Given the description of an element on the screen output the (x, y) to click on. 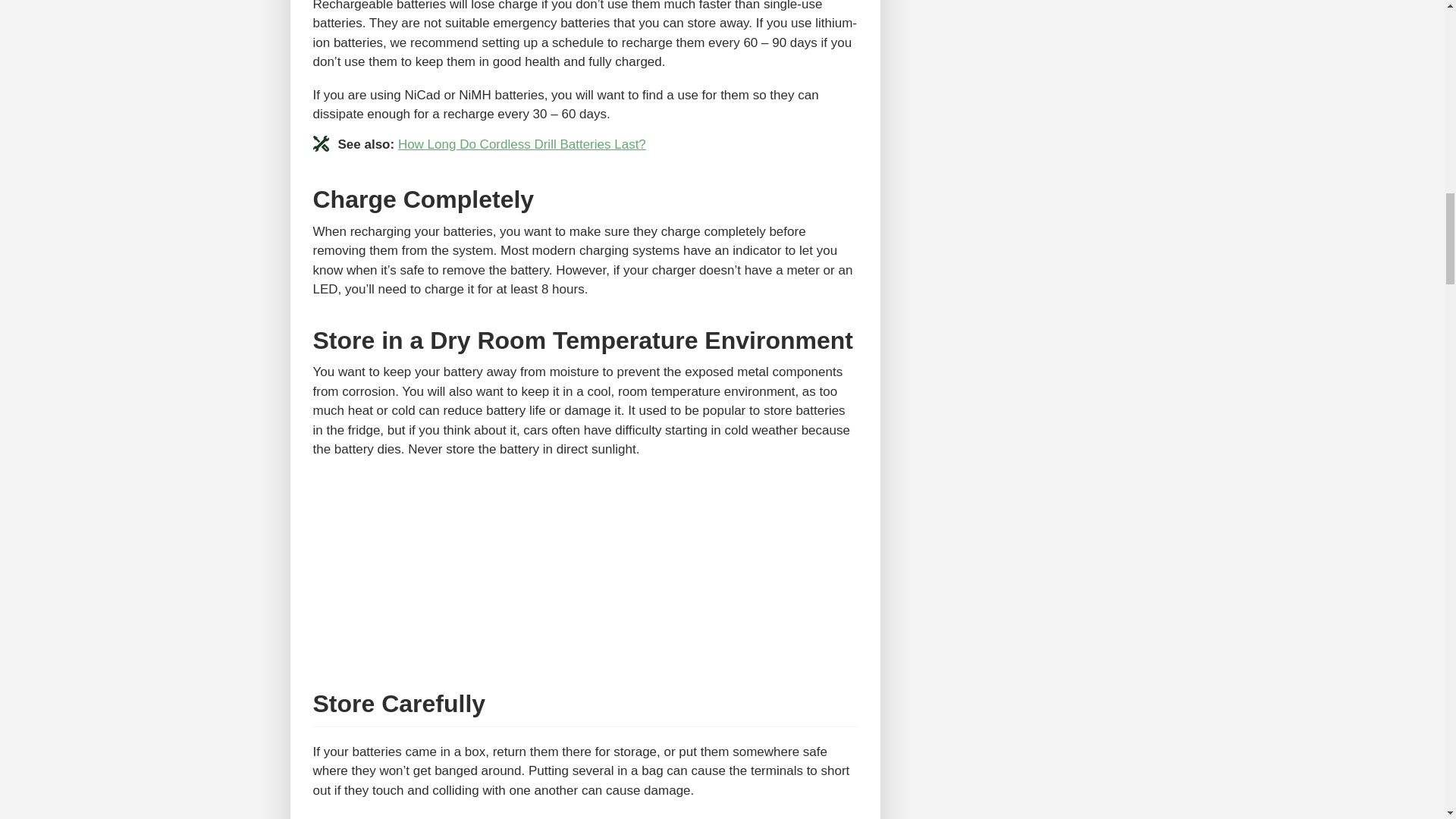
How Long Do Cordless Drill Batteries Last? (521, 144)
